Given the description of an element on the screen output the (x, y) to click on. 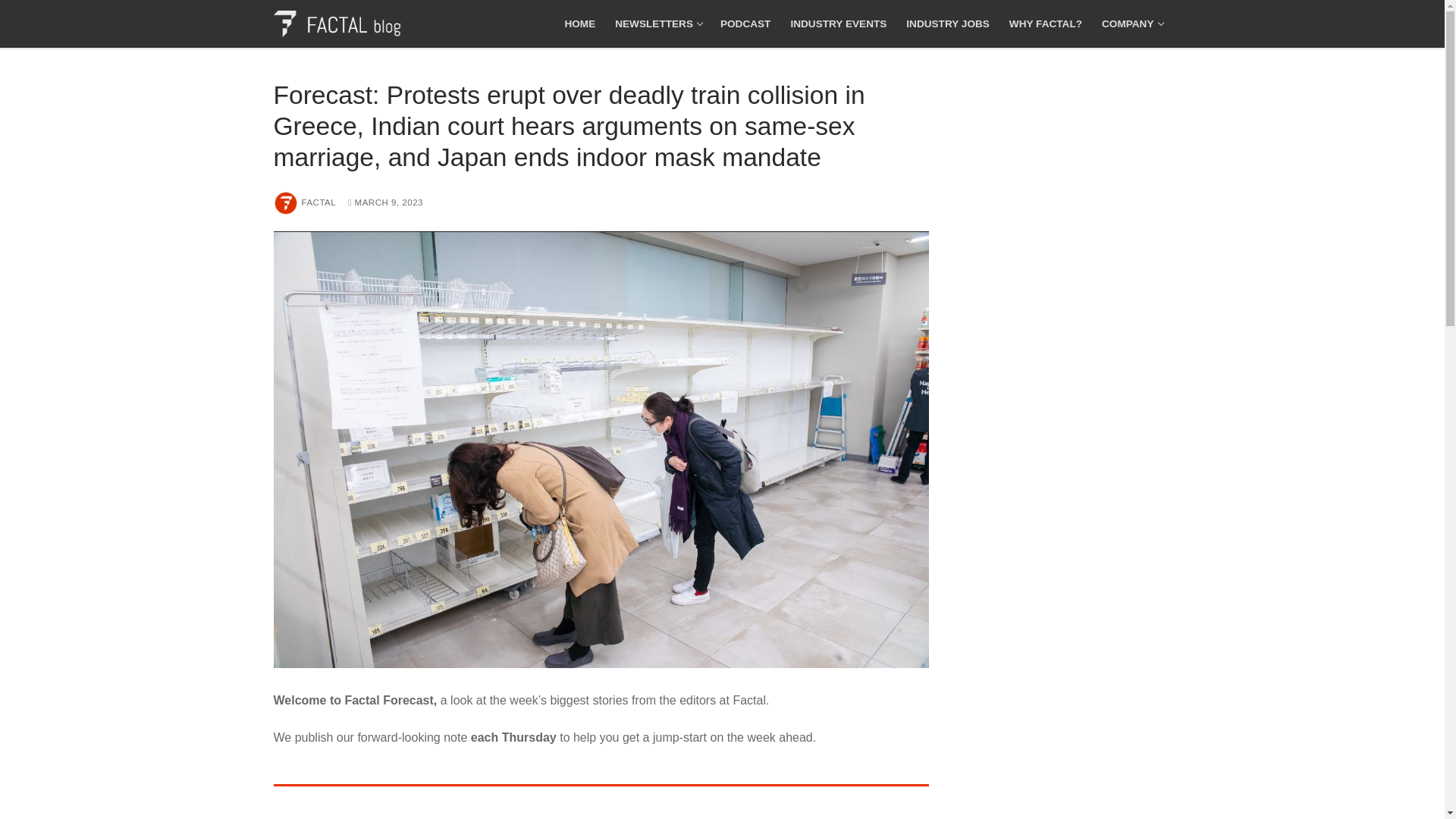
HOME (579, 23)
WHY FACTAL? (1131, 23)
MARCH 9, 2023 (1045, 23)
FACTAL (657, 23)
PODCAST (385, 202)
INDUSTRY JOBS (304, 202)
INDUSTRY EVENTS (745, 23)
